Given the description of an element on the screen output the (x, y) to click on. 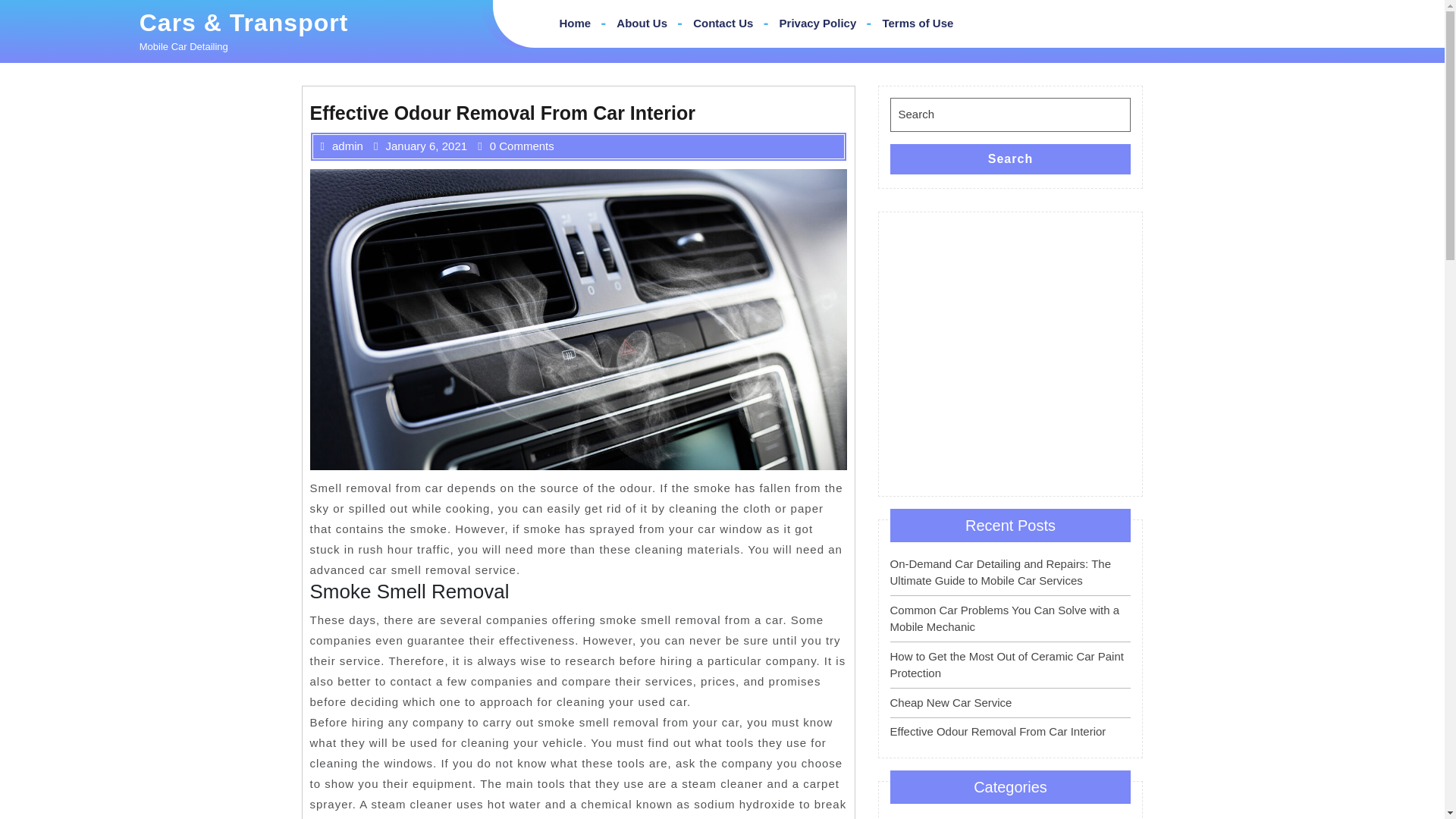
Common Car Problems You Can Solve with a Mobile Mechanic (1004, 618)
About Us (641, 23)
Effective Odour Removal From Car Interior (997, 730)
Cheap New Car Service (950, 702)
Terms of Use (916, 23)
How to Get the Most Out of Ceramic Car Paint Protection (1006, 665)
Contact Us (722, 23)
Home (574, 23)
Search (1010, 159)
